Given the description of an element on the screen output the (x, y) to click on. 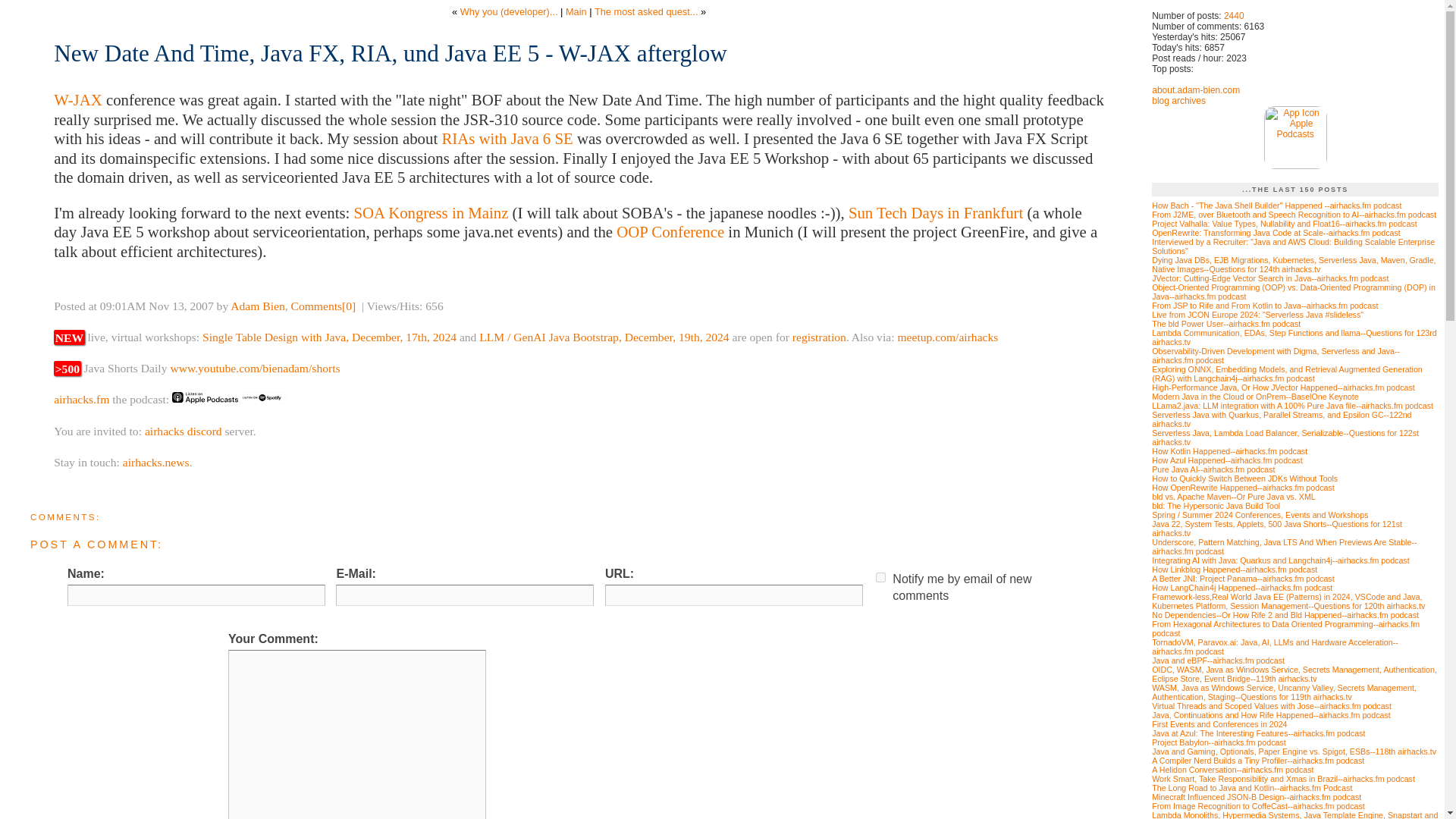
The bld Power User--airhacks.fm podcast (1225, 323)
registration (818, 336)
Single Table Design with Java, December, 17th, 2024 (329, 336)
SOA Kongress in Mainz (430, 212)
on (880, 577)
Sun Tech Days in Frankfurt (935, 212)
OOP Conference (669, 231)
airhacks.news (155, 461)
blog archives (1178, 100)
W-JAX (77, 99)
2440 (1234, 15)
